Given the description of an element on the screen output the (x, y) to click on. 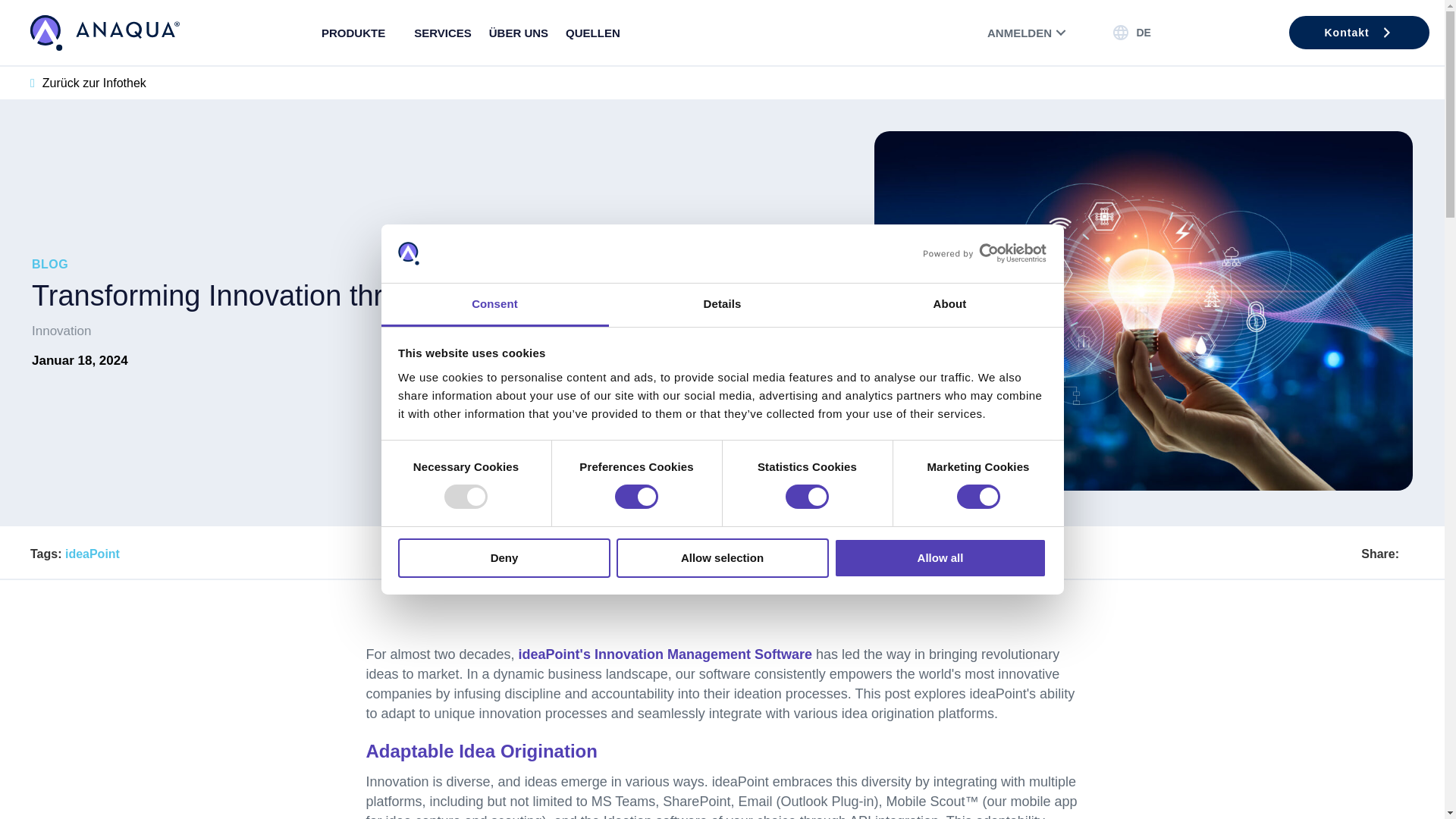
About (948, 304)
Details (721, 304)
Consent (494, 304)
